Given the description of an element on the screen output the (x, y) to click on. 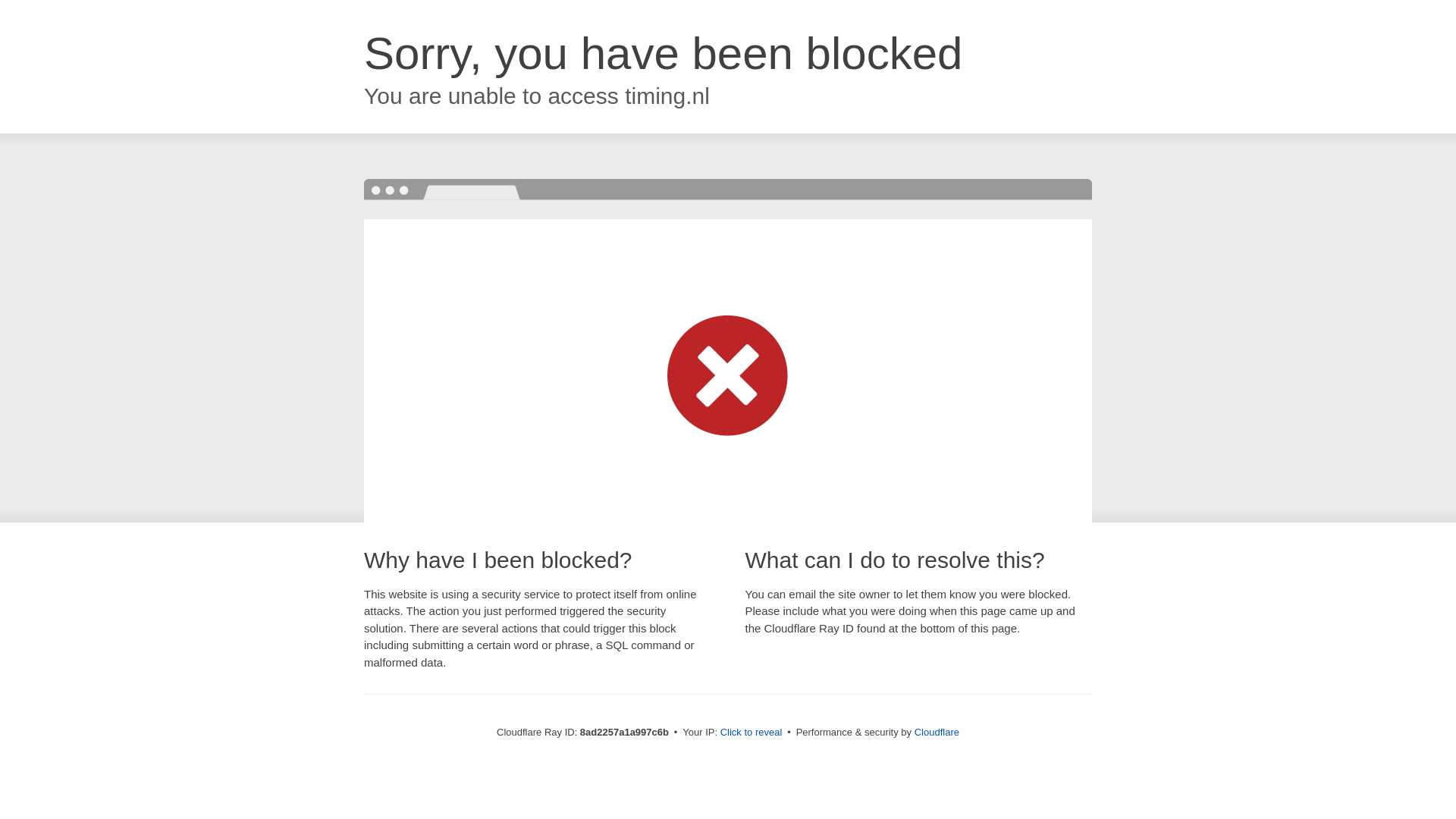
Cloudflare (936, 731)
Click to reveal (751, 732)
